Given the description of an element on the screen output the (x, y) to click on. 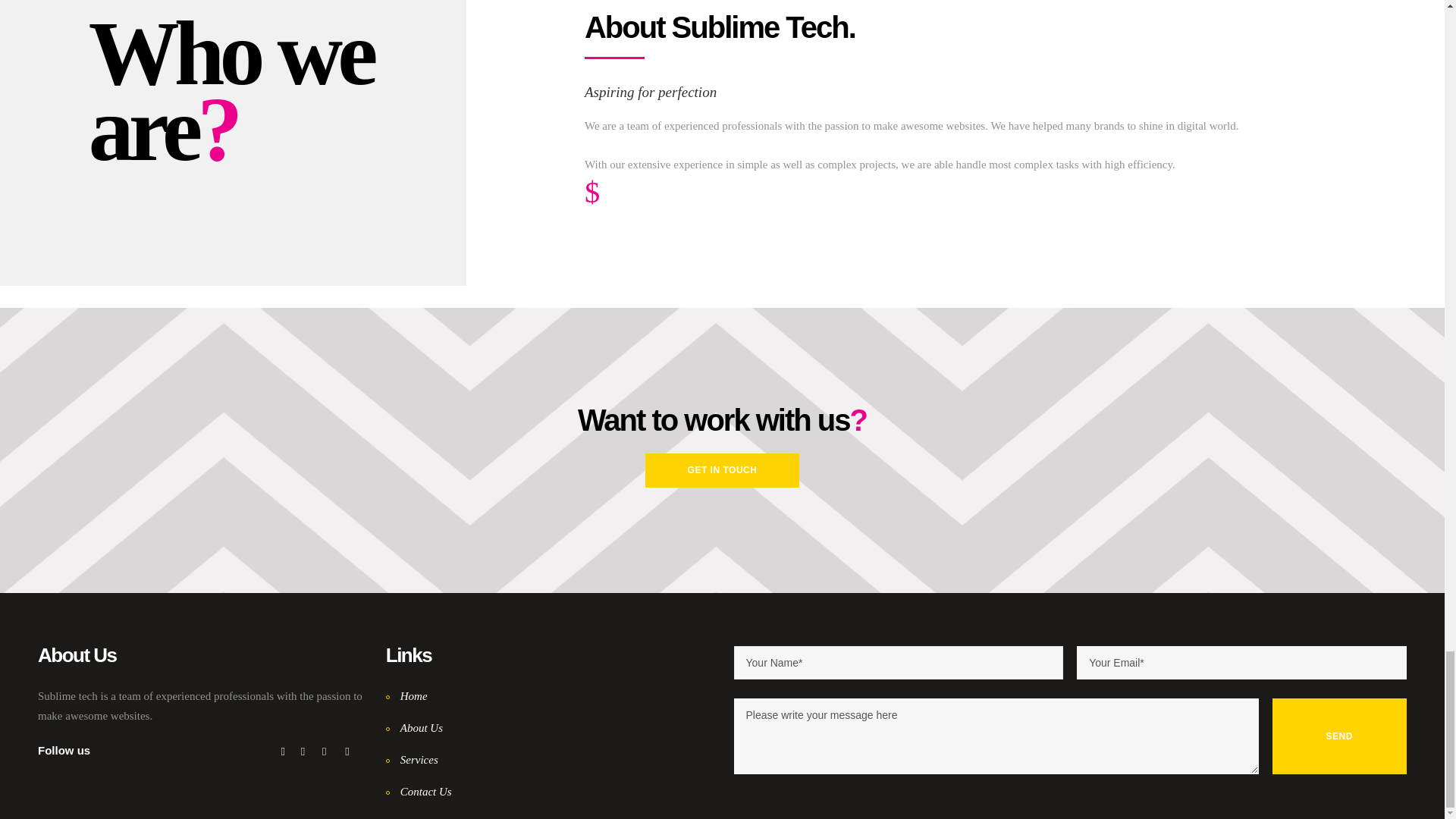
Send (1339, 735)
GET IN TOUCH (722, 470)
Home (406, 695)
Services (411, 759)
About Us (413, 727)
Contact Us (418, 791)
Send (1339, 735)
